Given the description of an element on the screen output the (x, y) to click on. 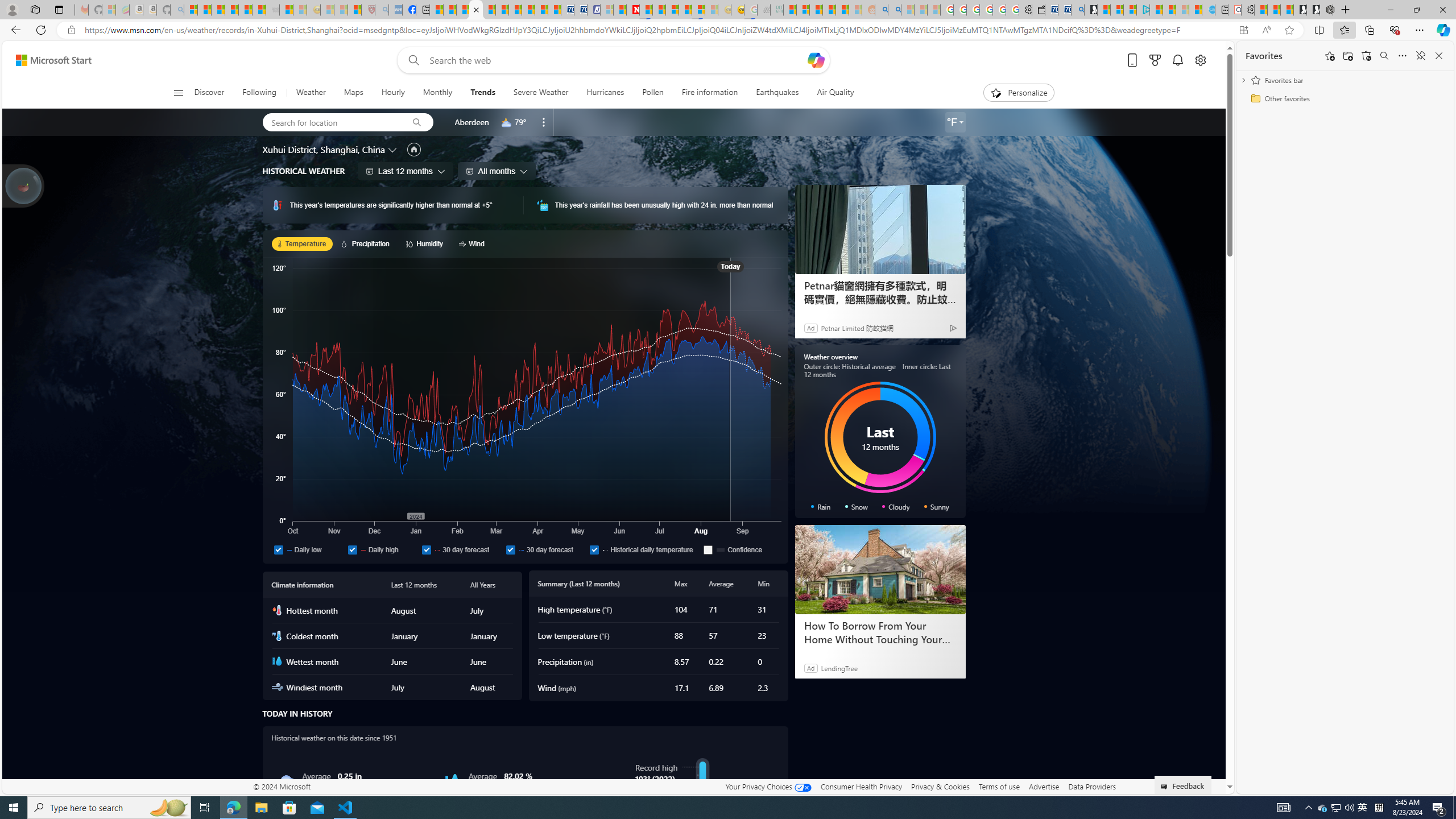
Humidity (426, 243)
